Given the description of an element on the screen output the (x, y) to click on. 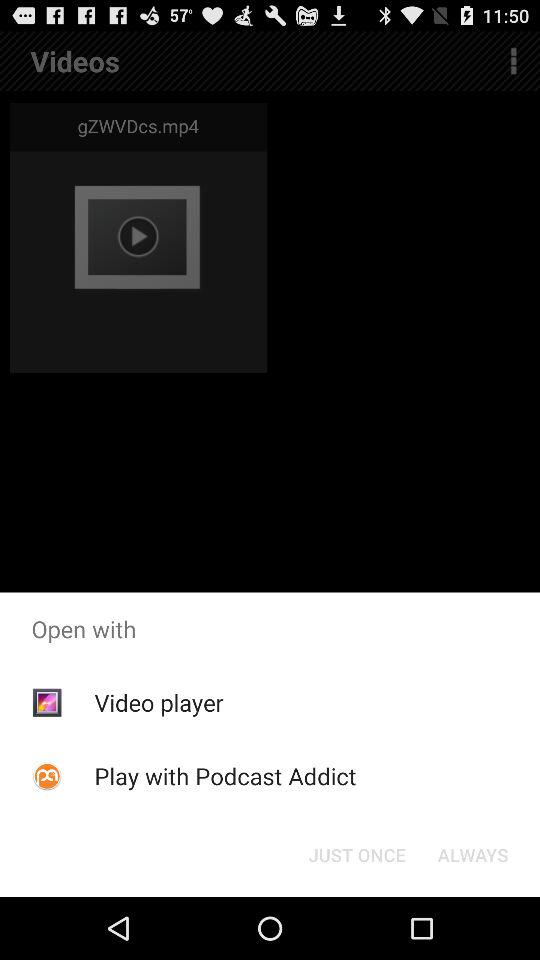
launch the icon below the video player app (225, 775)
